Given the description of an element on the screen output the (x, y) to click on. 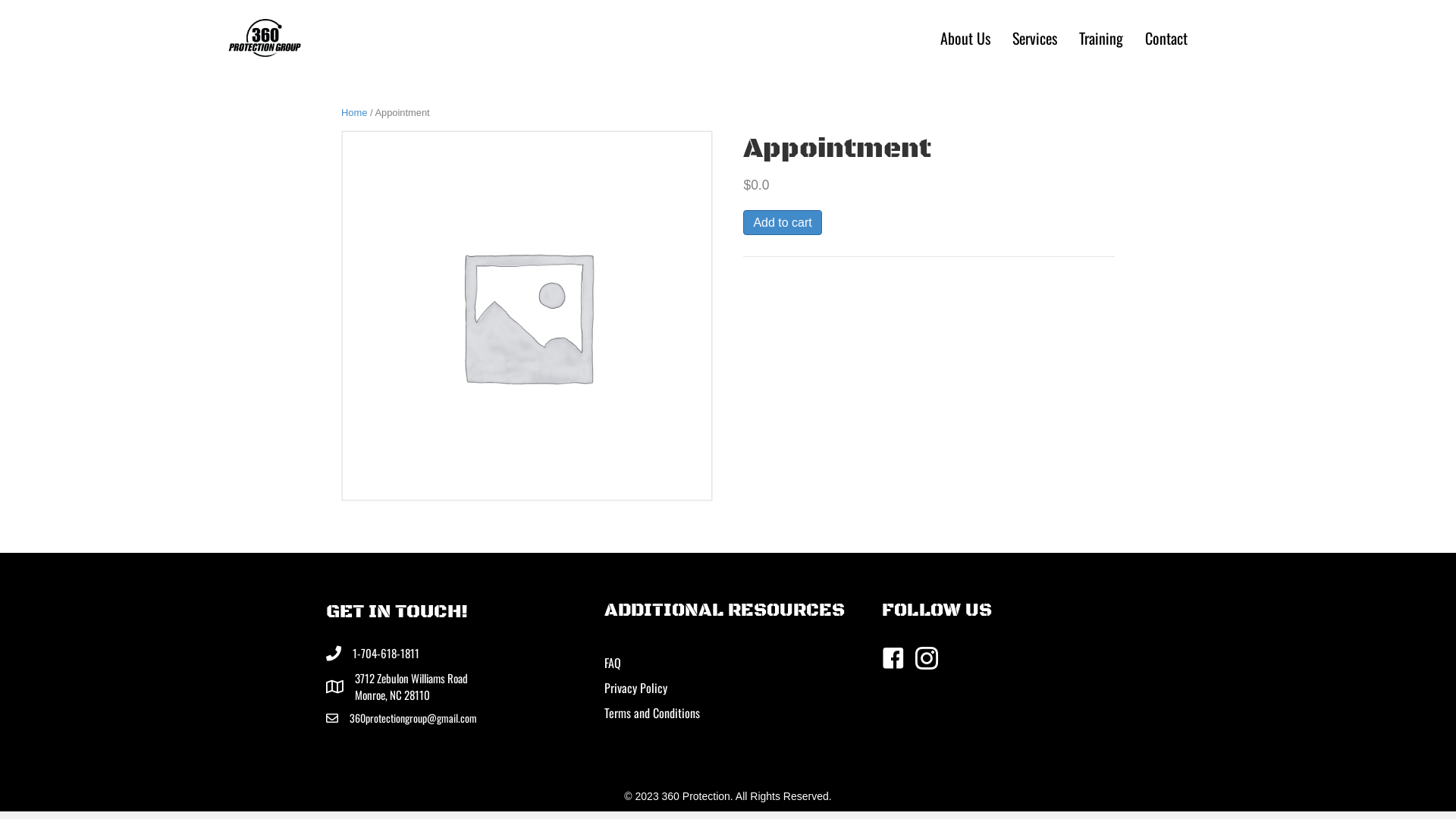
3712 Zebulon Williams Road
Monroe, NC 28110 Element type: text (410, 686)
360protectiongroup@gmail.com Element type: text (412, 717)
Add to cart Element type: text (782, 222)
1-704-618-1811 Element type: text (385, 653)
Services Element type: text (1034, 37)
Training Element type: text (1100, 37)
360 Instagram Element type: hover (264, 37)
About Us Element type: text (965, 37)
Contact Element type: text (1166, 37)
Home Element type: text (354, 112)
